Given the description of an element on the screen output the (x, y) to click on. 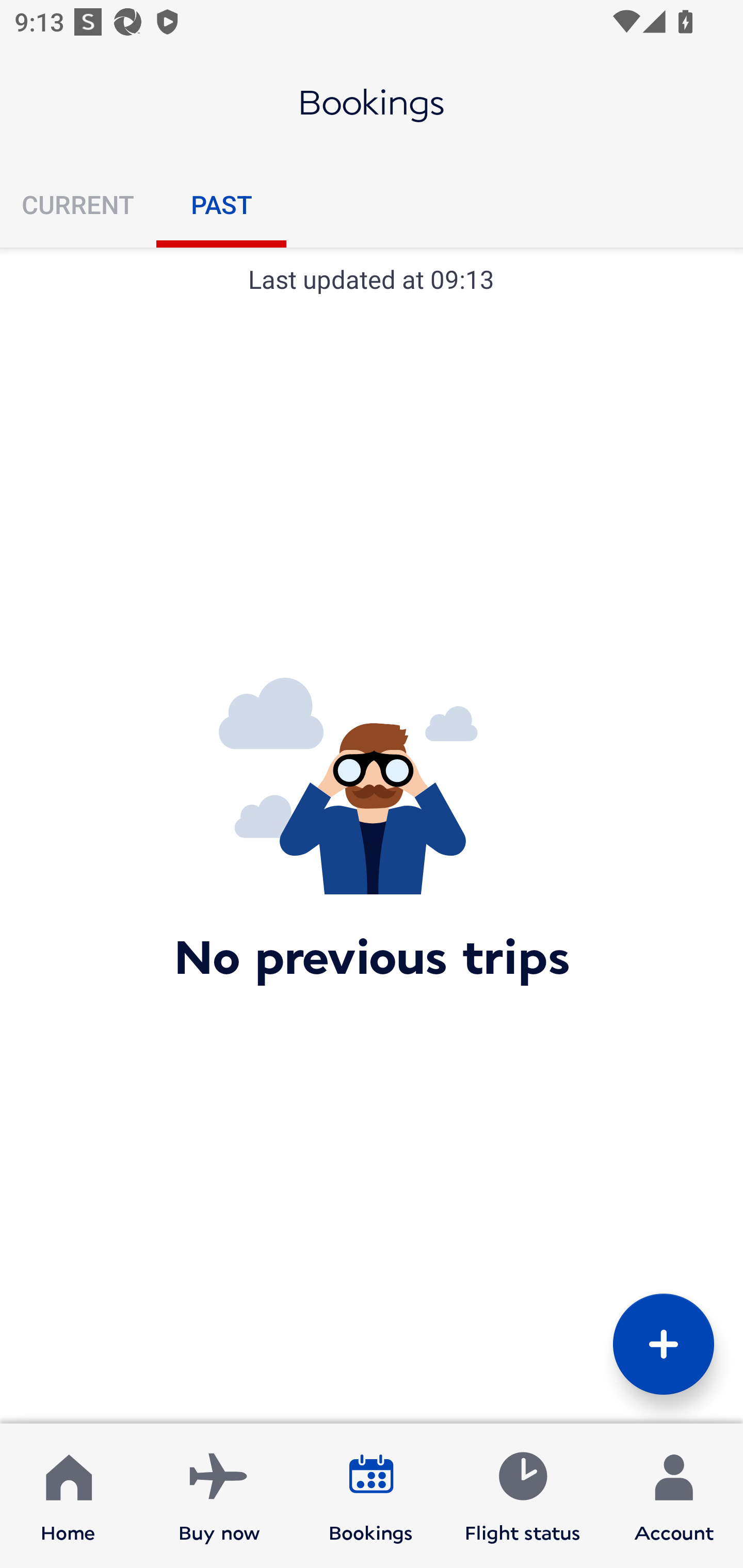
CURRENT (78, 204)
Home (68, 1495)
Buy now (219, 1495)
Flight status (522, 1495)
Account (674, 1495)
